Given the description of an element on the screen output the (x, y) to click on. 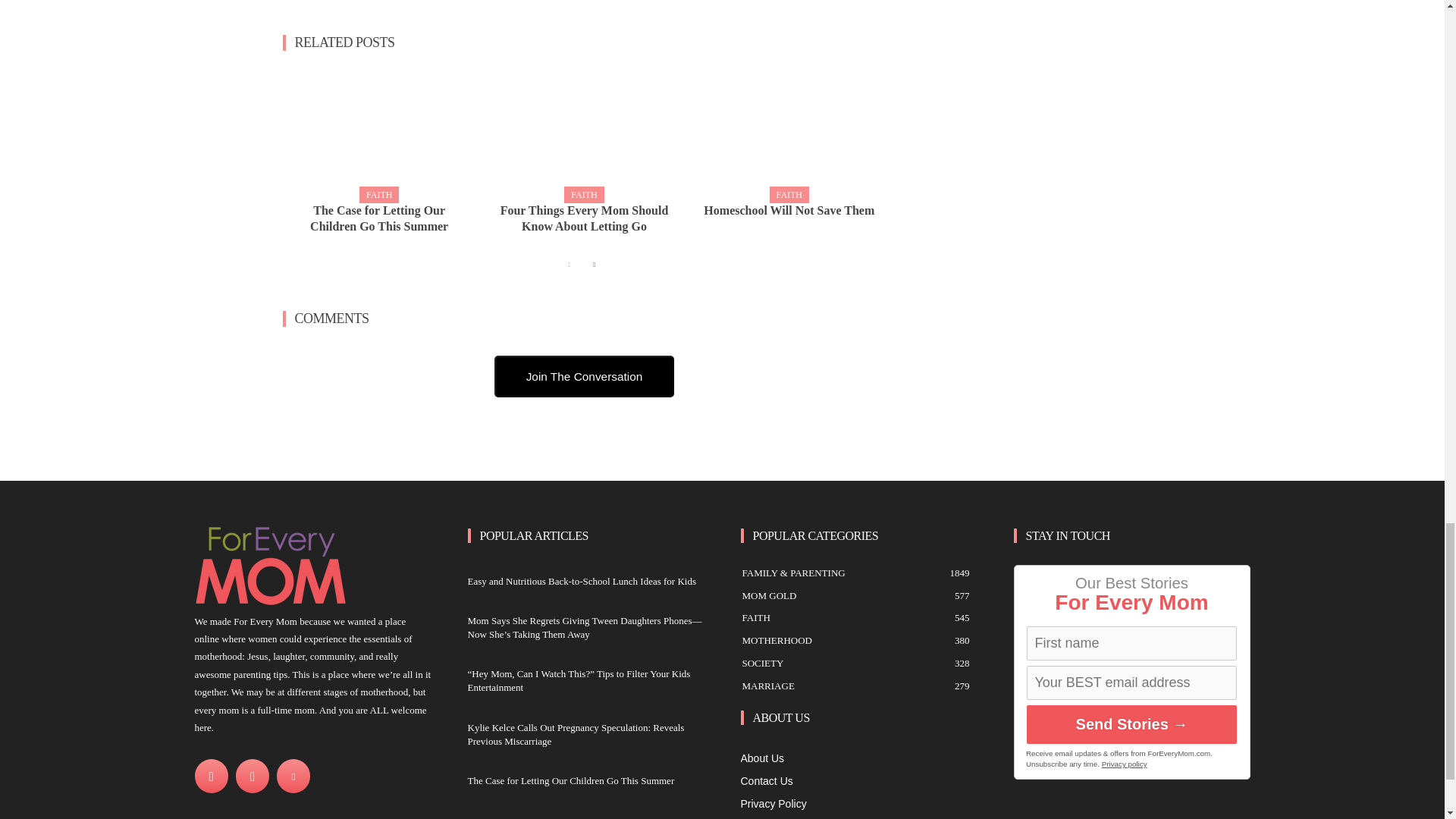
The Case for Letting Our Children Go This Summer (379, 133)
Four Things Every Mom Should Know About Letting Go (584, 217)
Four Things Every Mom Should Know About Letting Go (584, 133)
The Case for Letting Our Children Go This Summer (379, 217)
